Given the description of an element on the screen output the (x, y) to click on. 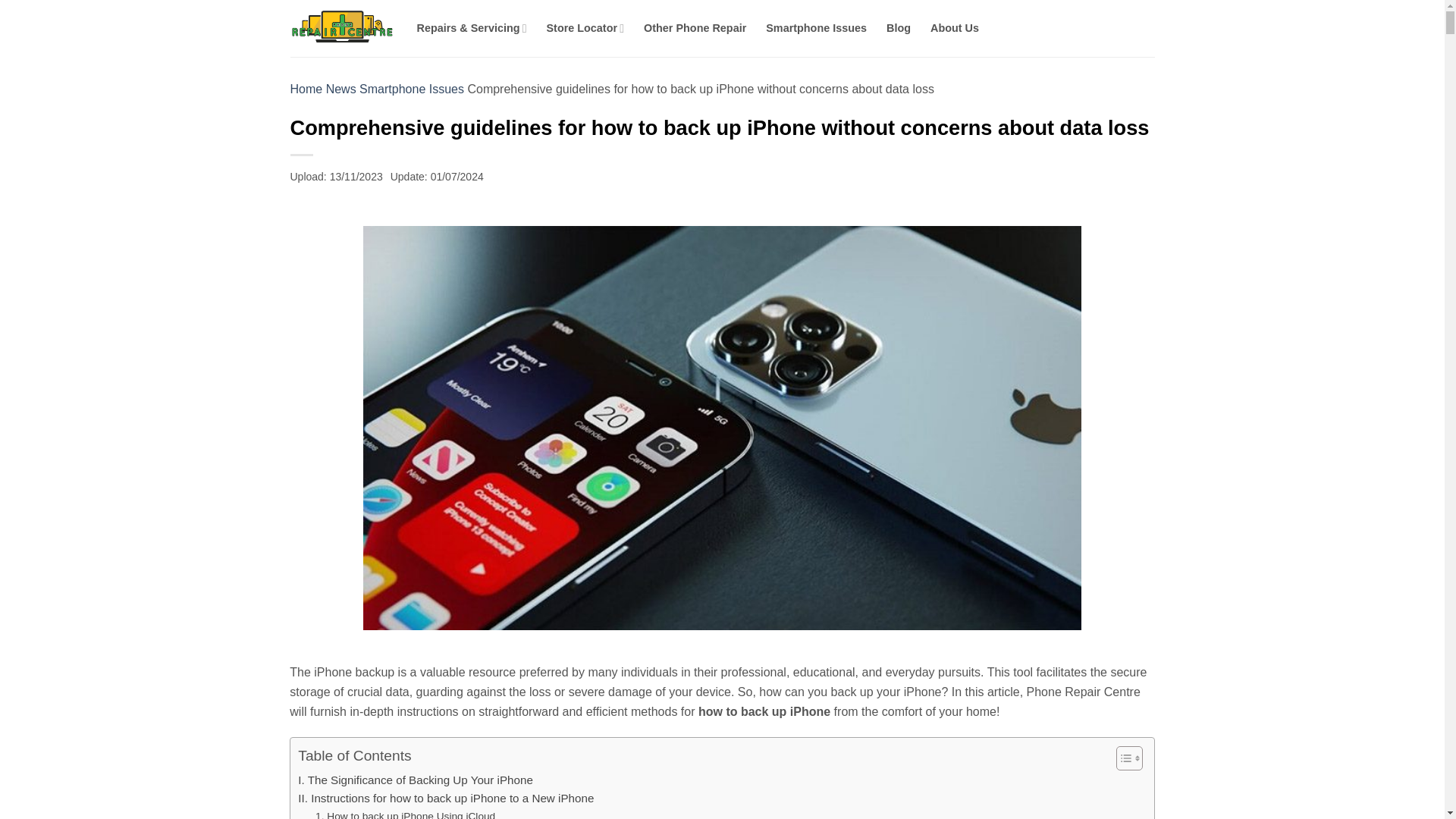
1. How to back up iPhone Using iCloud (405, 813)
II. Instructions for how to back up iPhone to a New iPhone (446, 798)
Phone Repair (341, 28)
I. The Significance of Backing Up Your iPhone (415, 780)
